Given the description of an element on the screen output the (x, y) to click on. 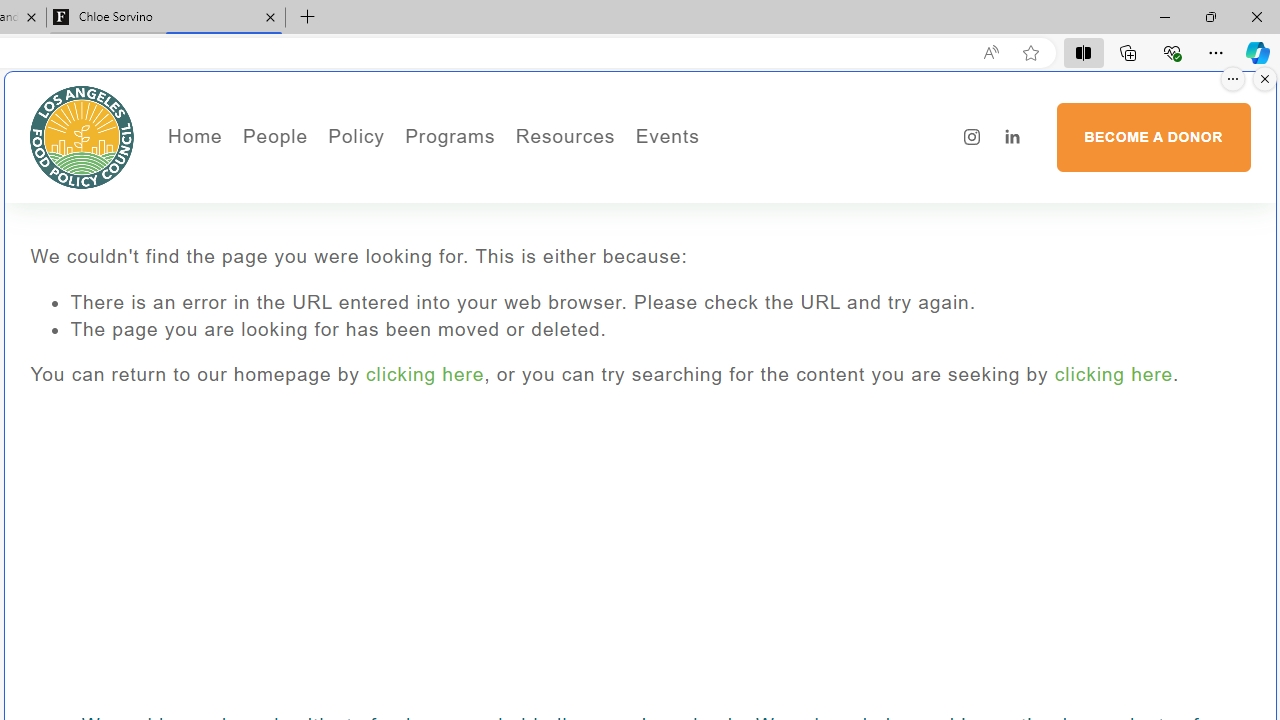
Resources (564, 136)
Healthy Markets LA (504, 176)
Food Rescue Macro Grants (643, 232)
Blog (341, 261)
Los Angeles Food Policy Council (81, 136)
Food Leaders Lab (468, 232)
Farm Fresh LA (504, 205)
Good Food Zones (643, 176)
Press (341, 232)
More options. (1233, 79)
About (341, 176)
